Given the description of an element on the screen output the (x, y) to click on. 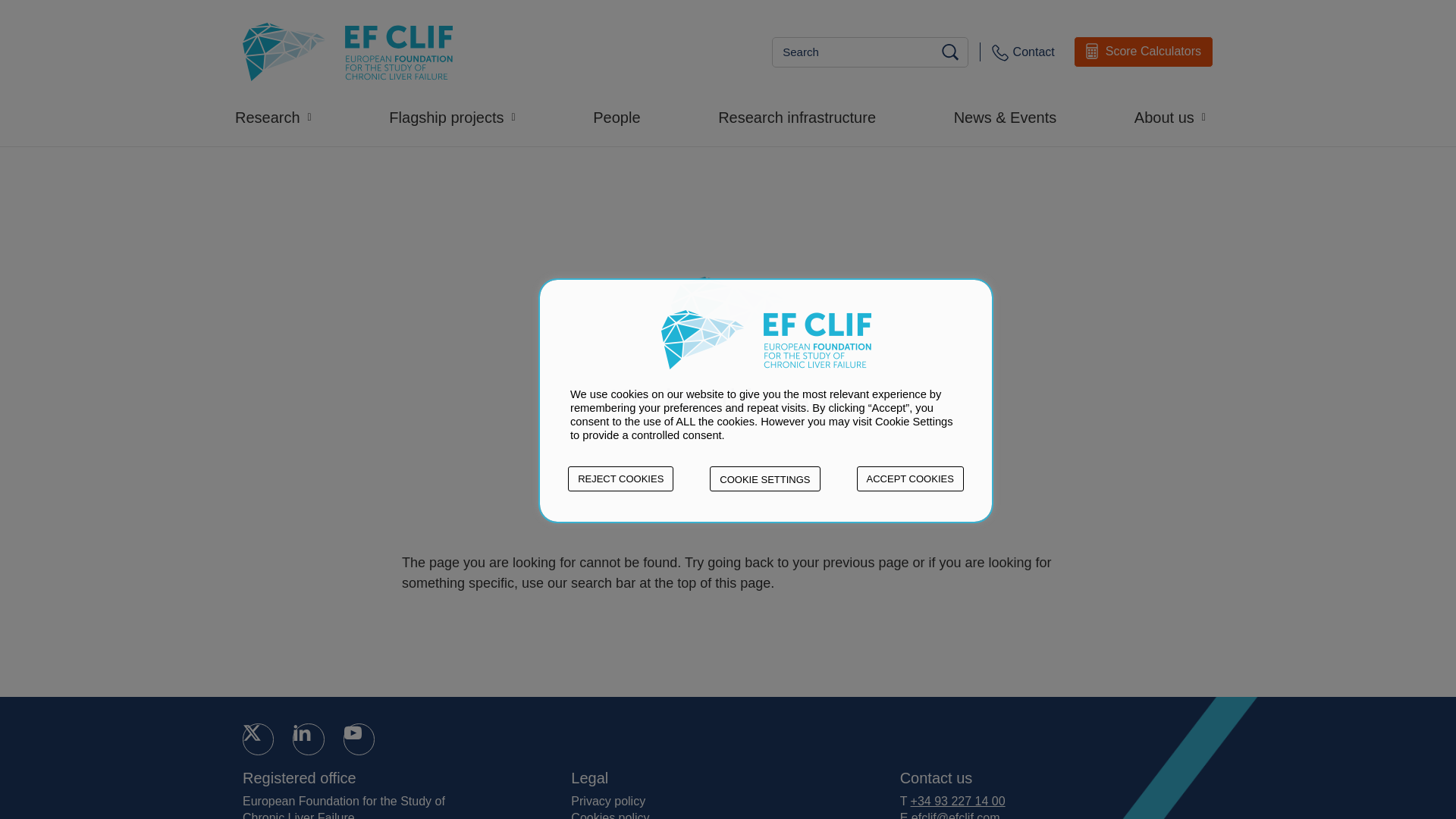
Research infrastructure (804, 117)
About us (1177, 117)
Flagship projects (458, 117)
Contact (1022, 51)
People (623, 117)
Score Calculators (1143, 51)
Research (280, 117)
Search (952, 51)
